Given the description of an element on the screen output the (x, y) to click on. 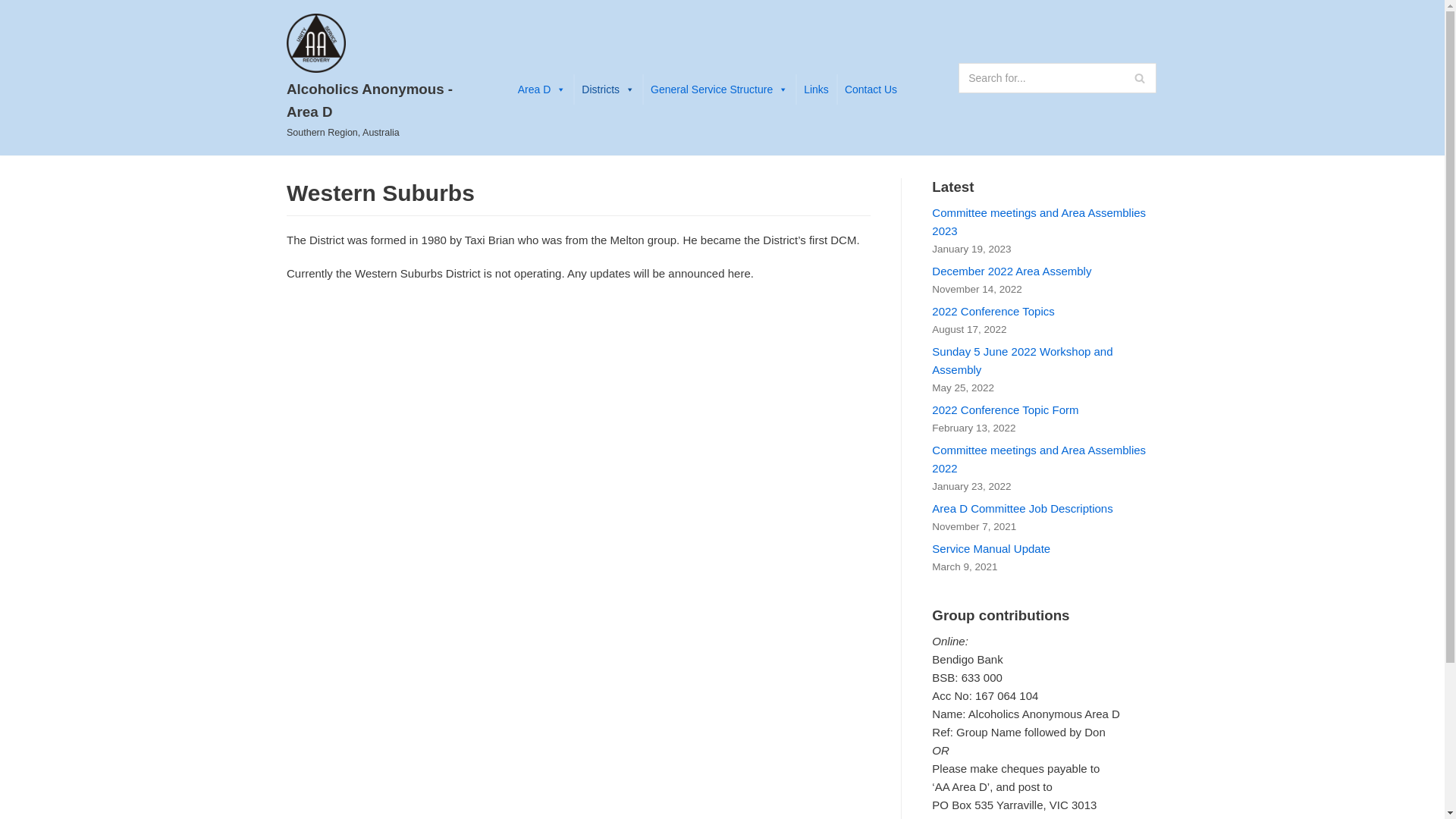
Alcoholics Anonymous - Area D
Southern Region, Australia Element type: text (386, 77)
December 2022 Area Assembly Element type: text (1011, 270)
Skip to content Element type: text (15, 7)
Committee meetings and Area Assemblies 2023 Element type: text (1038, 221)
Sunday 5 June 2022 Workshop and Assembly Element type: text (1021, 360)
Districts Element type: text (608, 89)
2022 Conference Topic Form Element type: text (1004, 409)
Service Manual Update Element type: text (990, 548)
Committee meetings and Area Assemblies 2022 Element type: text (1038, 458)
General Service Structure Element type: text (719, 89)
Area D Element type: text (542, 89)
Area D Committee Job Descriptions Element type: text (1021, 508)
Links Element type: text (816, 89)
Contact Us Element type: text (870, 89)
2022 Conference Topics Element type: text (992, 310)
